Given the description of an element on the screen output the (x, y) to click on. 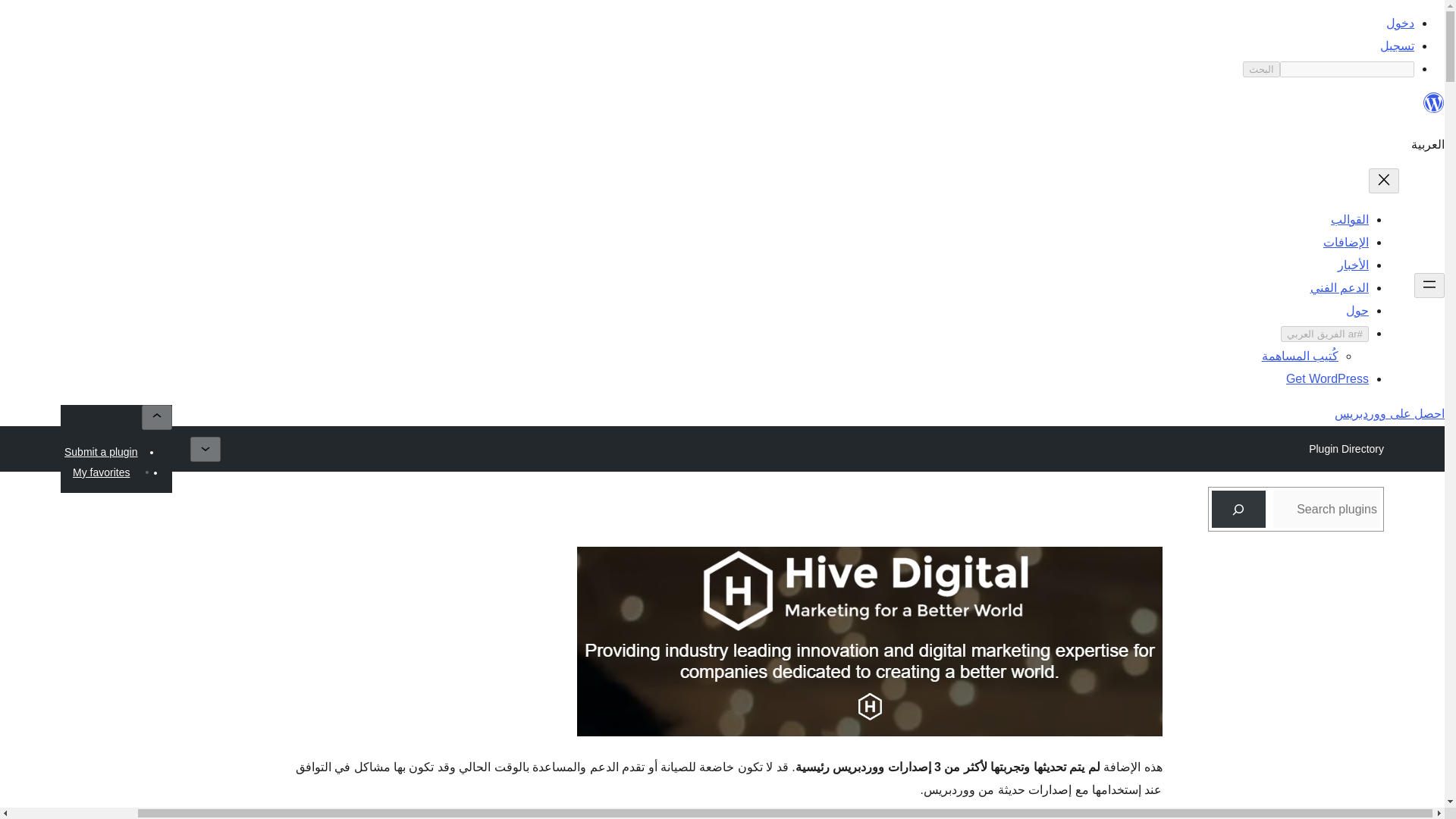
WordPress.org (1433, 102)
Get WordPress (1326, 378)
My favorites (100, 472)
WordPress.org (1433, 109)
Submit a plugin (101, 451)
Plugin Directory (1345, 448)
